Given the description of an element on the screen output the (x, y) to click on. 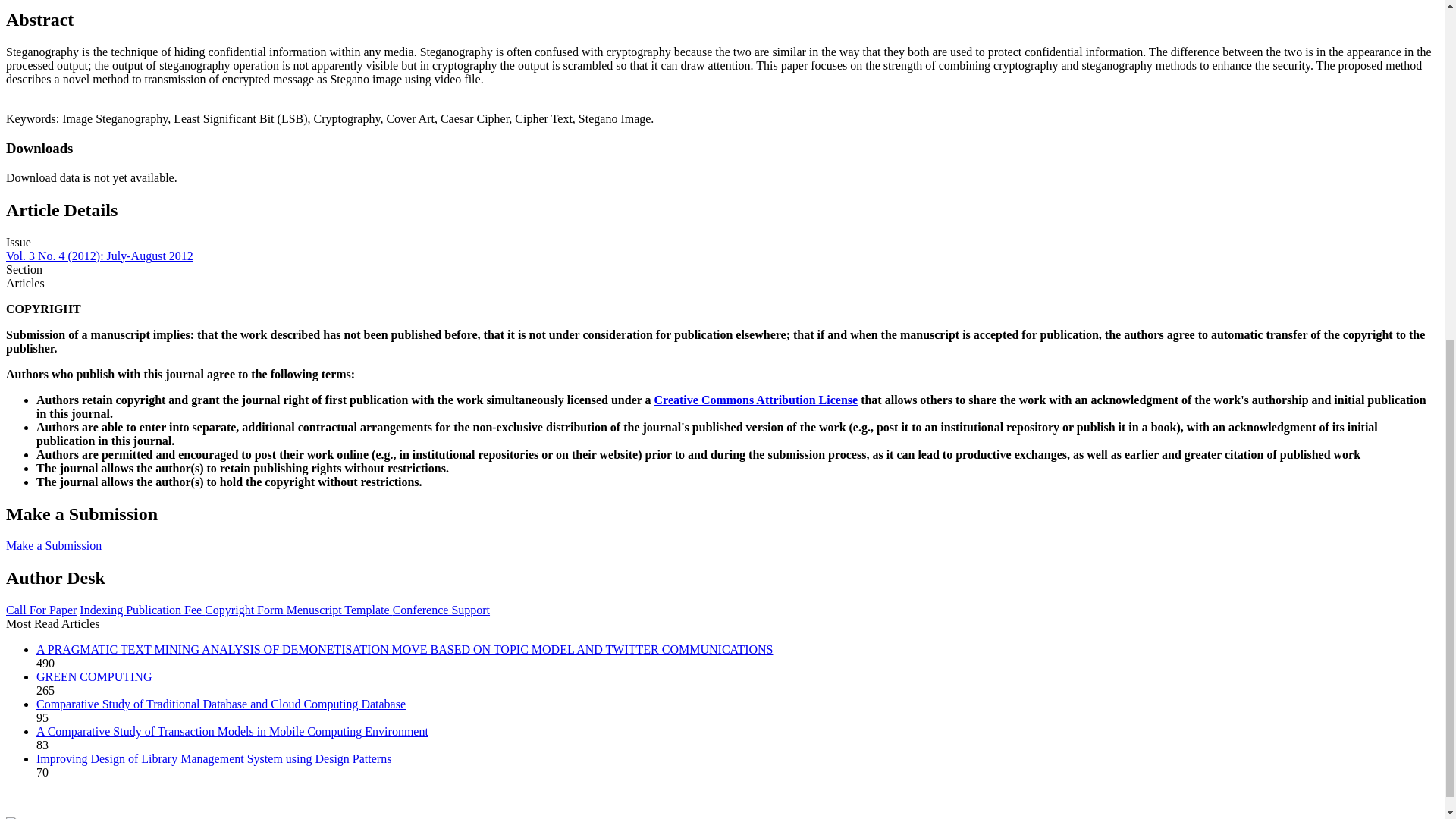
Publication Fee (165, 609)
Copyright Form (245, 609)
Make a Submission (53, 545)
Call For Paper (41, 609)
Menuscript Template (339, 609)
Conference Support (441, 609)
Creative Commons Attribution License (756, 399)
Indexing (102, 609)
GREEN COMPUTING (93, 676)
